Given the description of an element on the screen output the (x, y) to click on. 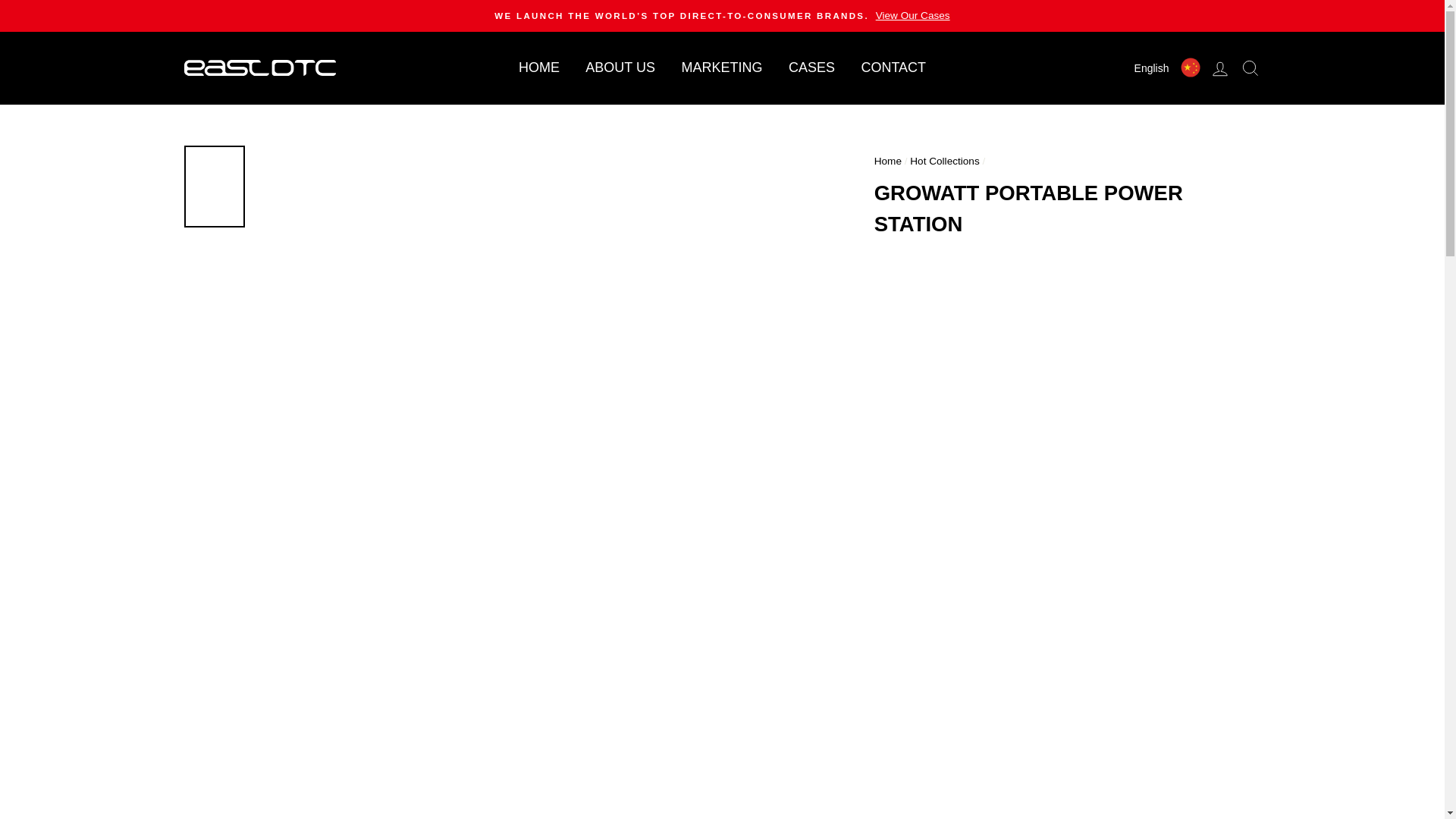
CASES (811, 68)
English (1149, 67)
CONTACT (892, 68)
MARKETING (721, 68)
ABOUT US (619, 68)
HOME (538, 68)
Back to the frontpage (888, 161)
